Given the description of an element on the screen output the (x, y) to click on. 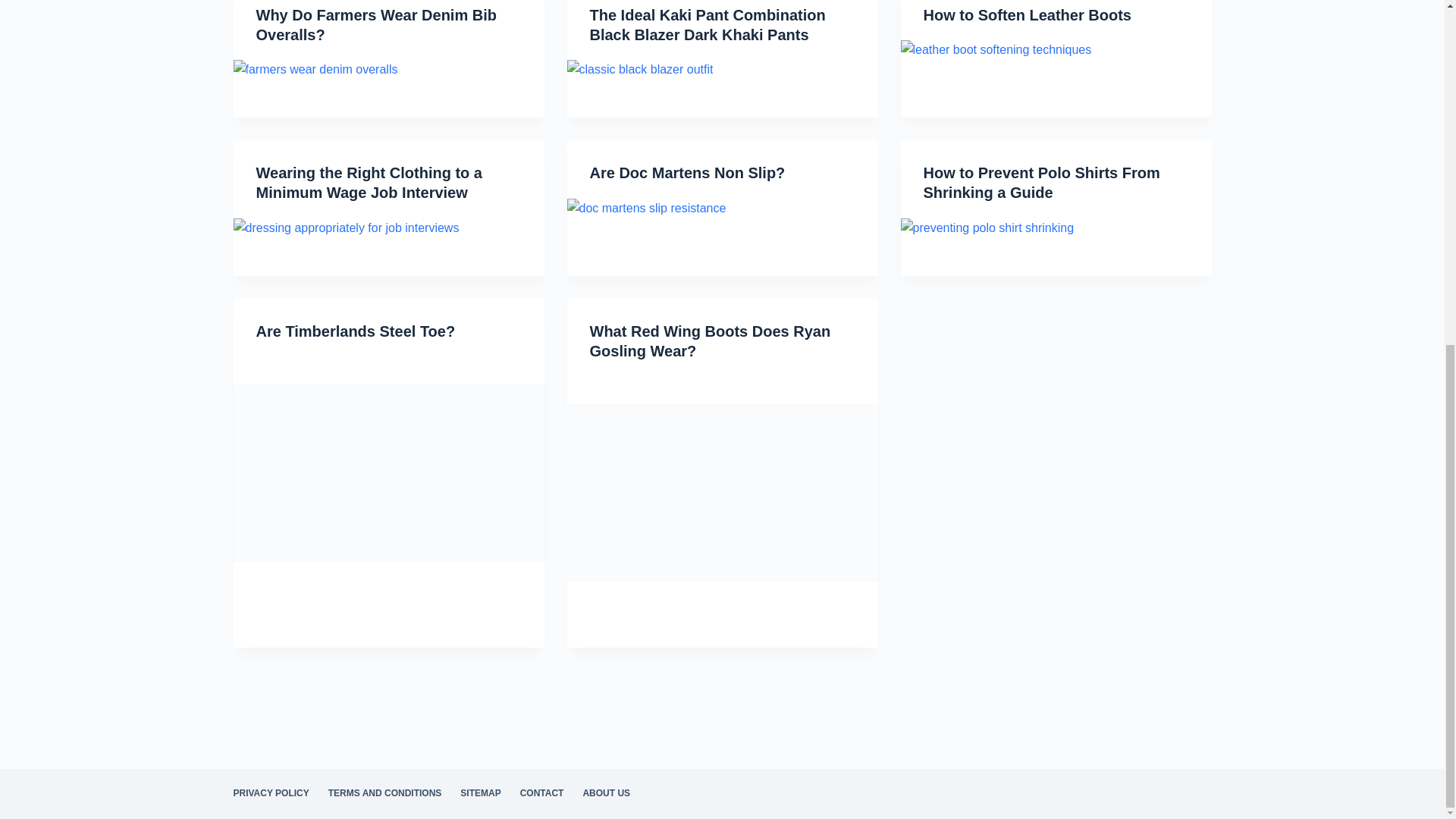
Why Do Farmers Wear Denim Bib Overalls? 4 (314, 69)
Are Timberlands Steel Toe? (355, 330)
Are Doc Martens Non Slip? 8 (646, 208)
What Red Wing Boots Does Ryan Gosling Wear? (710, 340)
What Red Wing Boots Does Ryan Gosling Wear? 11 (722, 492)
How to Soften Leather Boots 6 (996, 49)
How to Prevent Polo Shirts From Shrinking a Guide 9 (987, 228)
Wearing the Right Clothing to a Minimum Wage Job Interview 7 (346, 228)
Wearing the Right Clothing to a Minimum Wage Job Interview (369, 182)
